Given the description of an element on the screen output the (x, y) to click on. 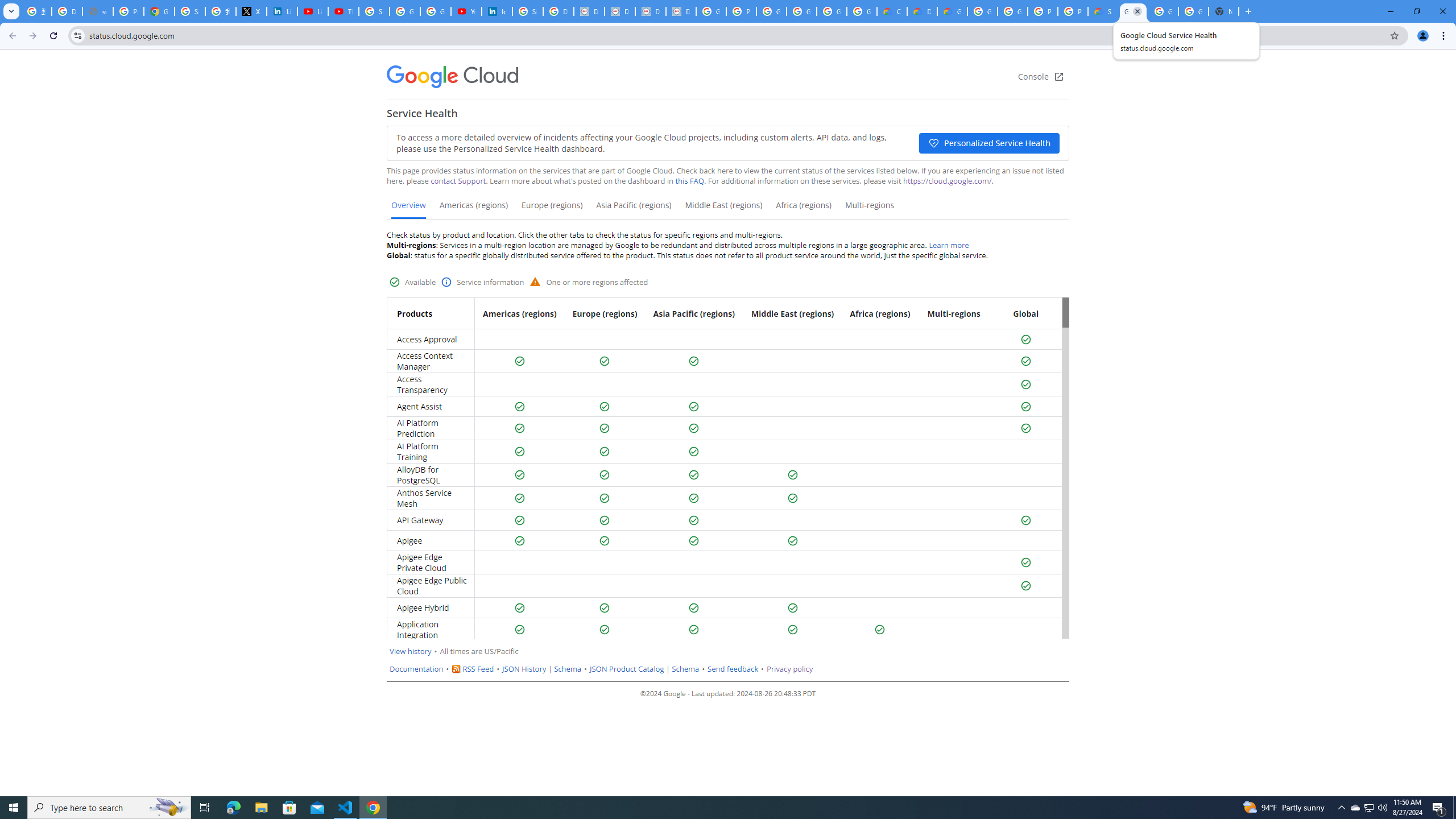
Americas (regions) (473, 209)
https://cloud.google.com/ (946, 181)
Multi-regions (868, 209)
LinkedIn - YouTube (312, 11)
Data Privacy Framework (681, 11)
Data Privacy Framework (619, 11)
Google Cloud Platform (1193, 11)
Documentation (417, 668)
